Given the description of an element on the screen output the (x, y) to click on. 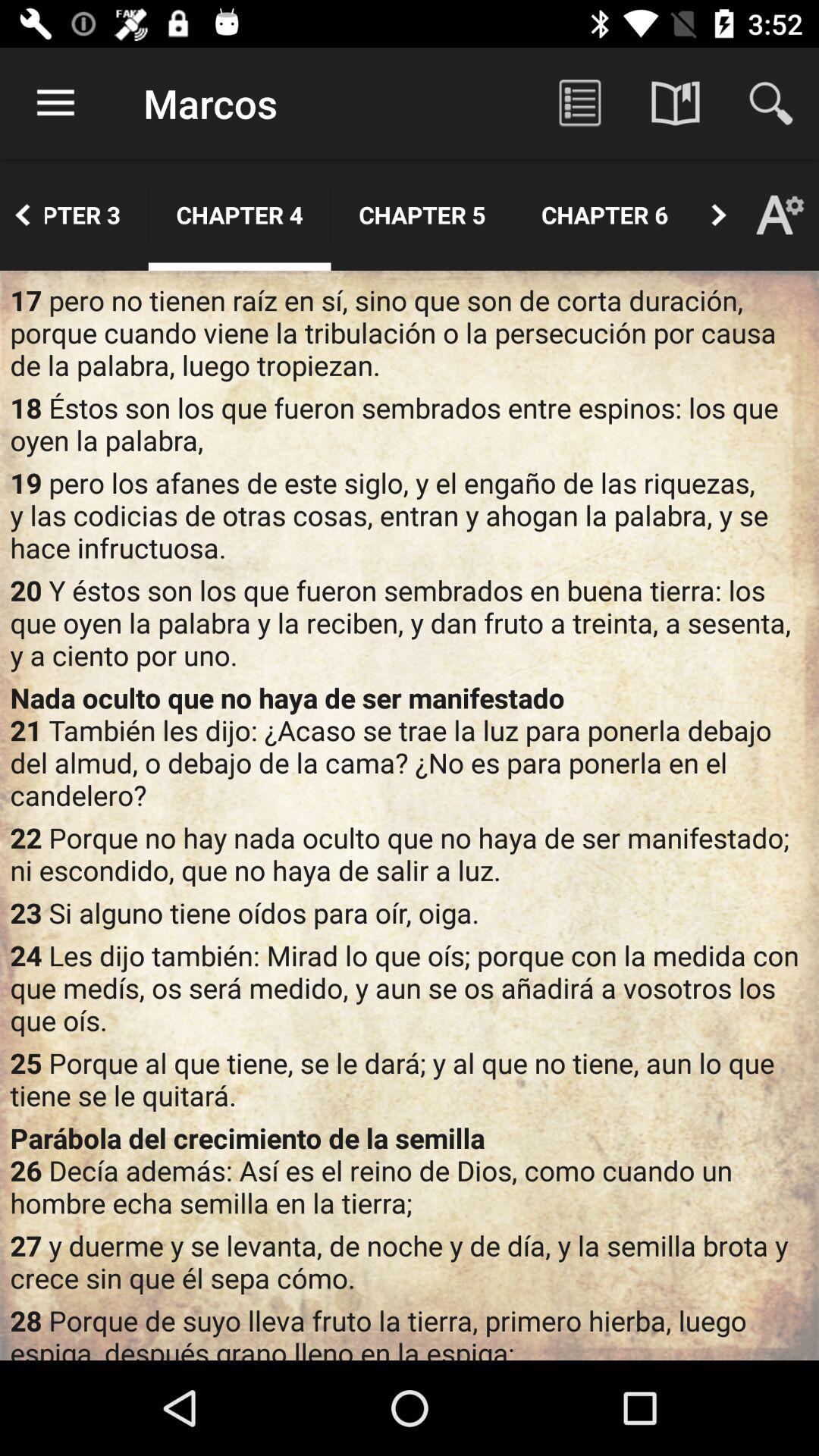
turn on the icon above 17 pero no icon (604, 214)
